Given the description of an element on the screen output the (x, y) to click on. 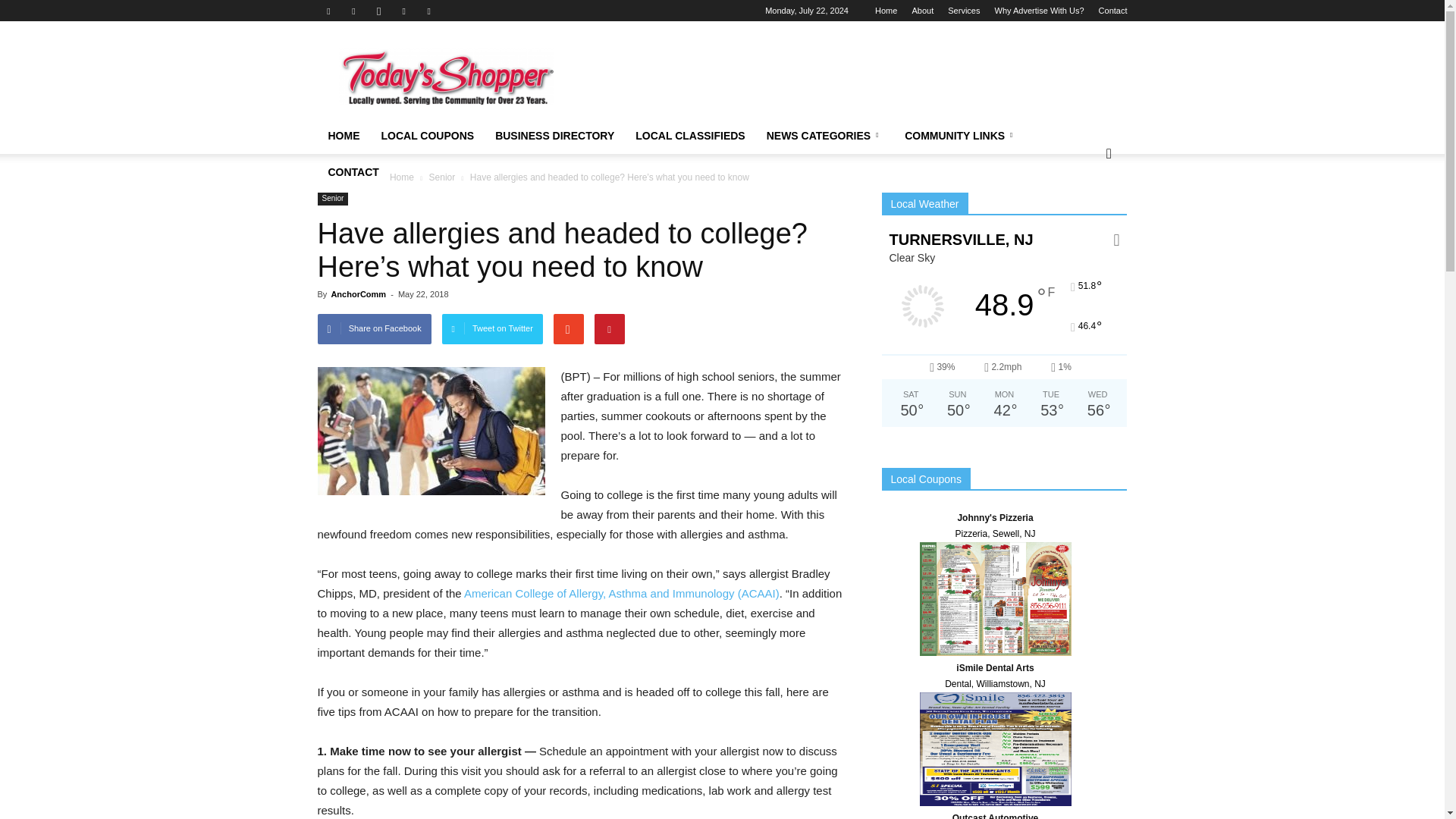
Facebook (328, 10)
View all posts in Senior (443, 176)
Instagram (379, 10)
Twitter (403, 10)
Your Source for Local Coupons and Classifieds (445, 76)
Youtube (429, 10)
